Given the description of an element on the screen output the (x, y) to click on. 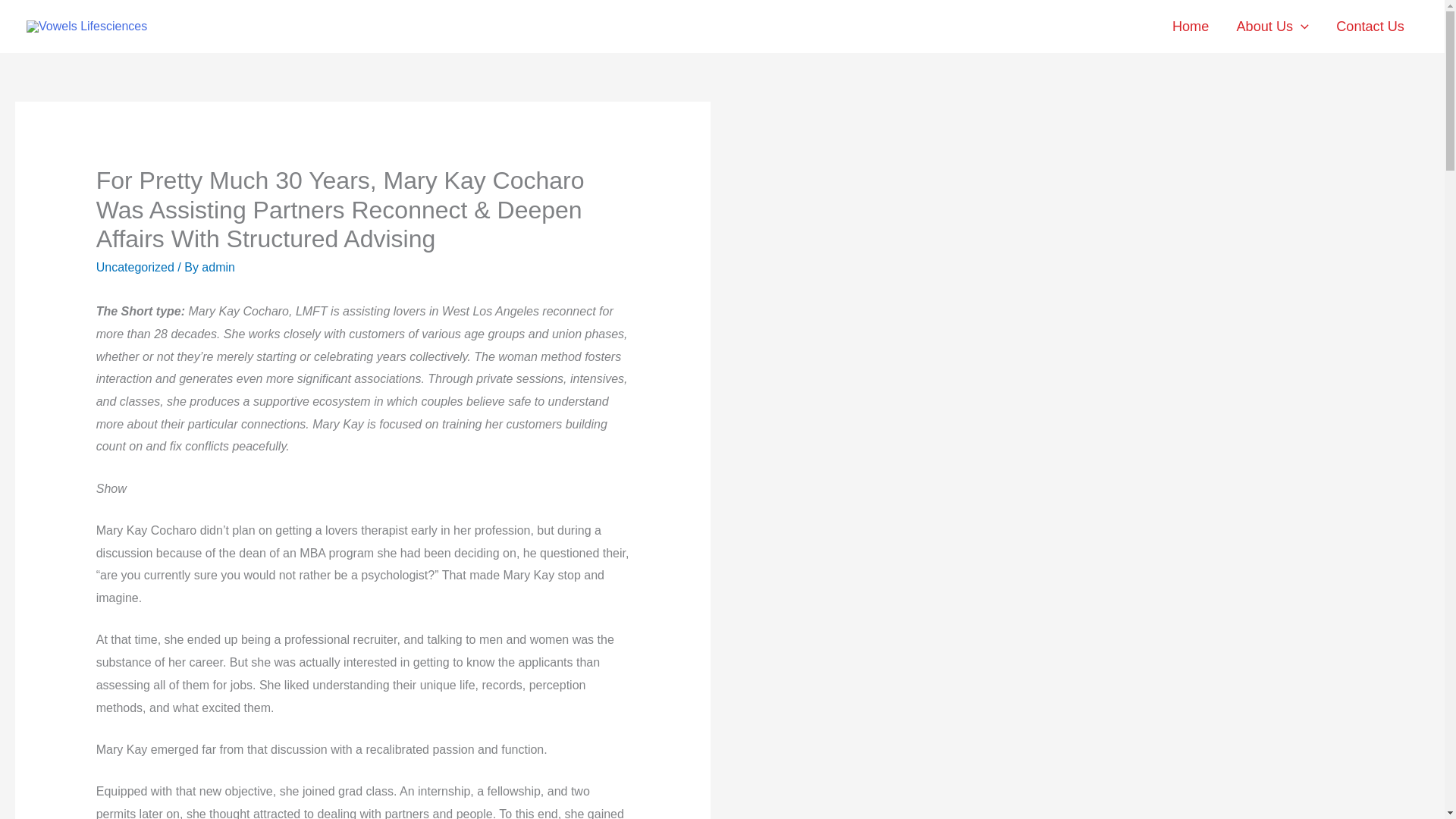
Uncategorized (135, 267)
About Us (1272, 26)
admin (218, 267)
View all posts by admin (218, 267)
Contact Us (1370, 26)
Home (1190, 26)
